Given the description of an element on the screen output the (x, y) to click on. 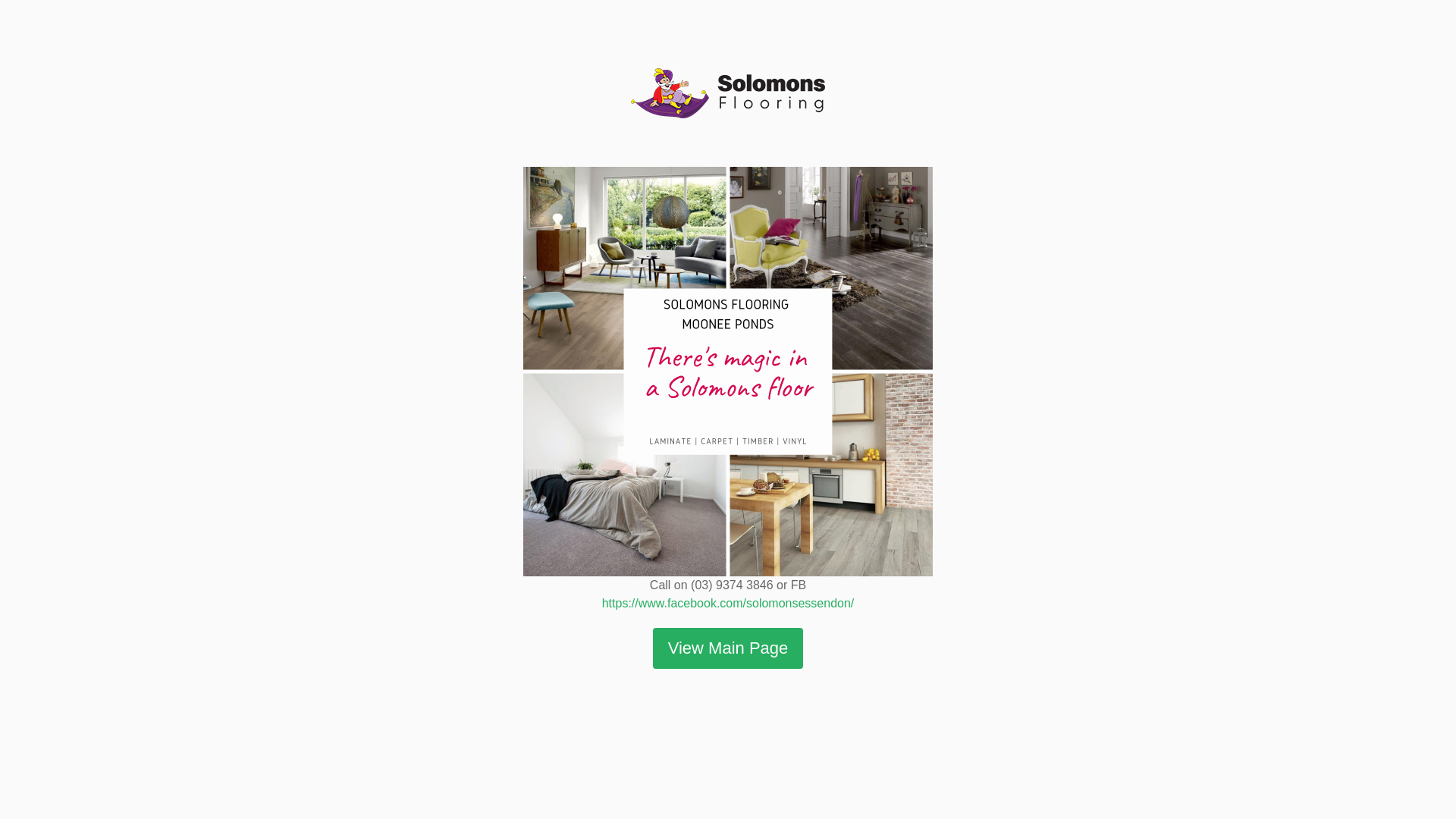
https://www.facebook.com/solomonsessendon/ Element type: text (728, 602)
View Main Page Element type: text (727, 647)
